Given the description of an element on the screen output the (x, y) to click on. 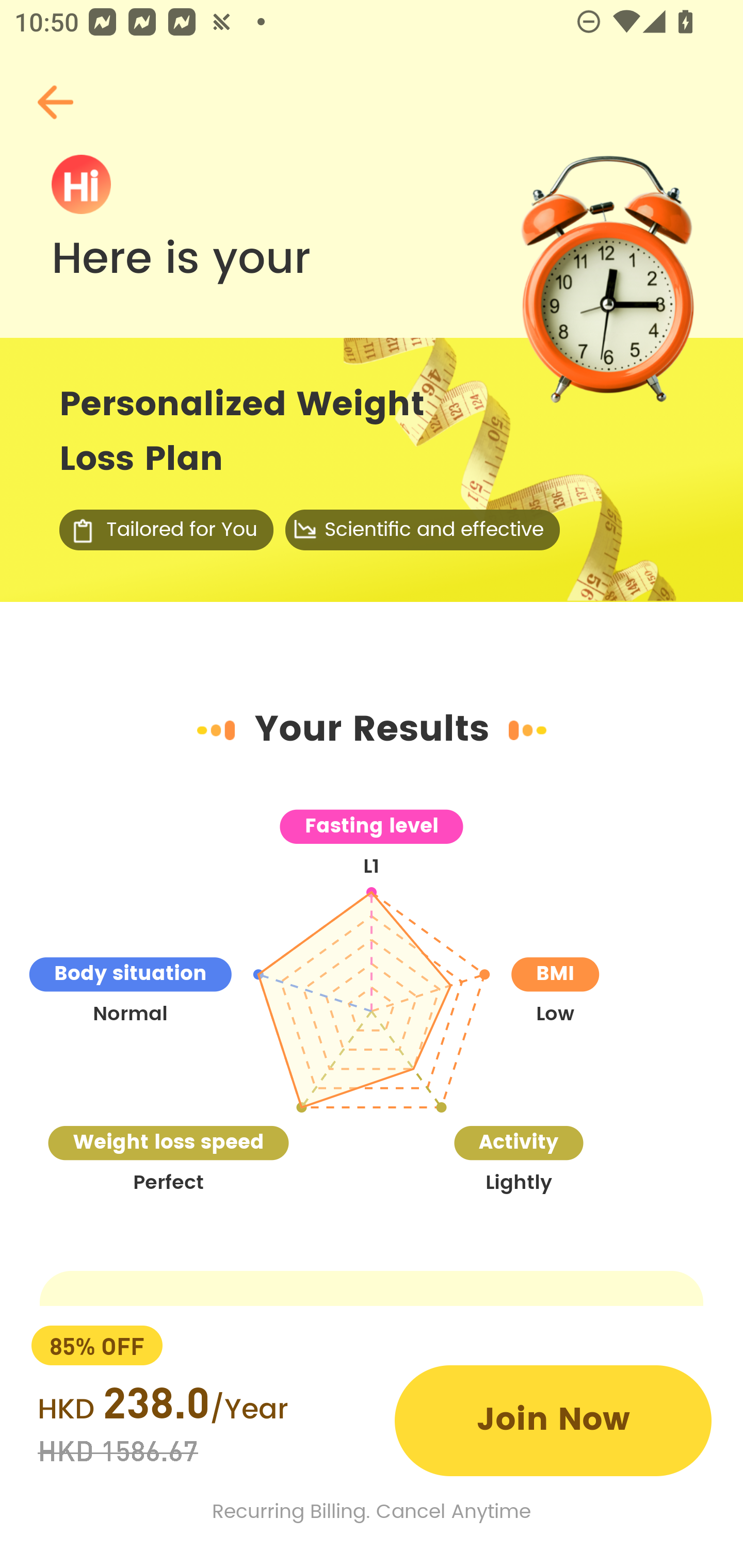
Join Now (552, 1420)
